Given the description of an element on the screen output the (x, y) to click on. 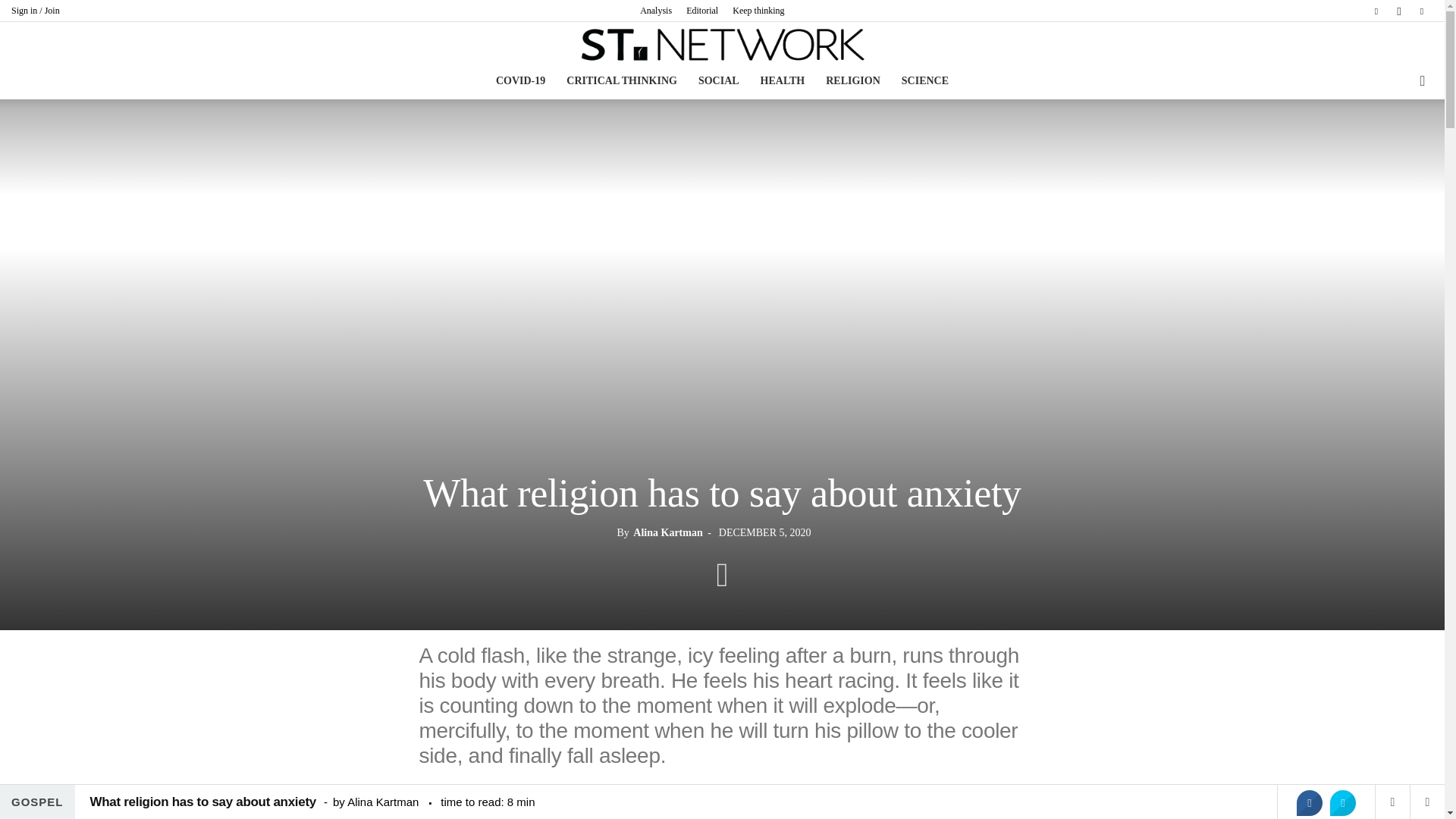
Editorial (701, 9)
Christian Analysis and Opinion (721, 44)
Keep thinking (758, 9)
Analysis (655, 9)
Instagram (1398, 10)
Facebook (1376, 10)
Twitter (1421, 10)
